Given the description of an element on the screen output the (x, y) to click on. 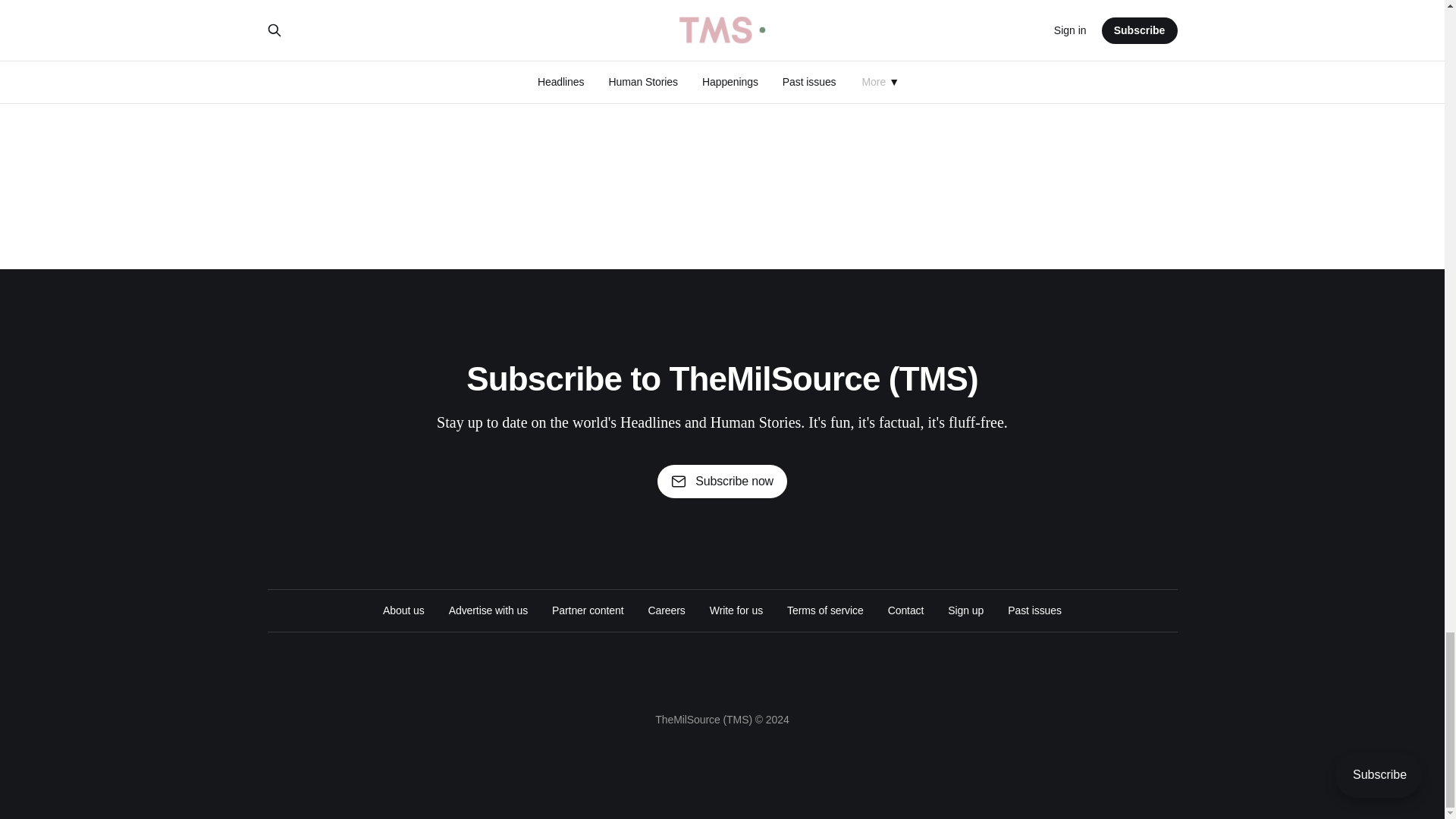
comments-frame (721, 77)
